Given the description of an element on the screen output the (x, y) to click on. 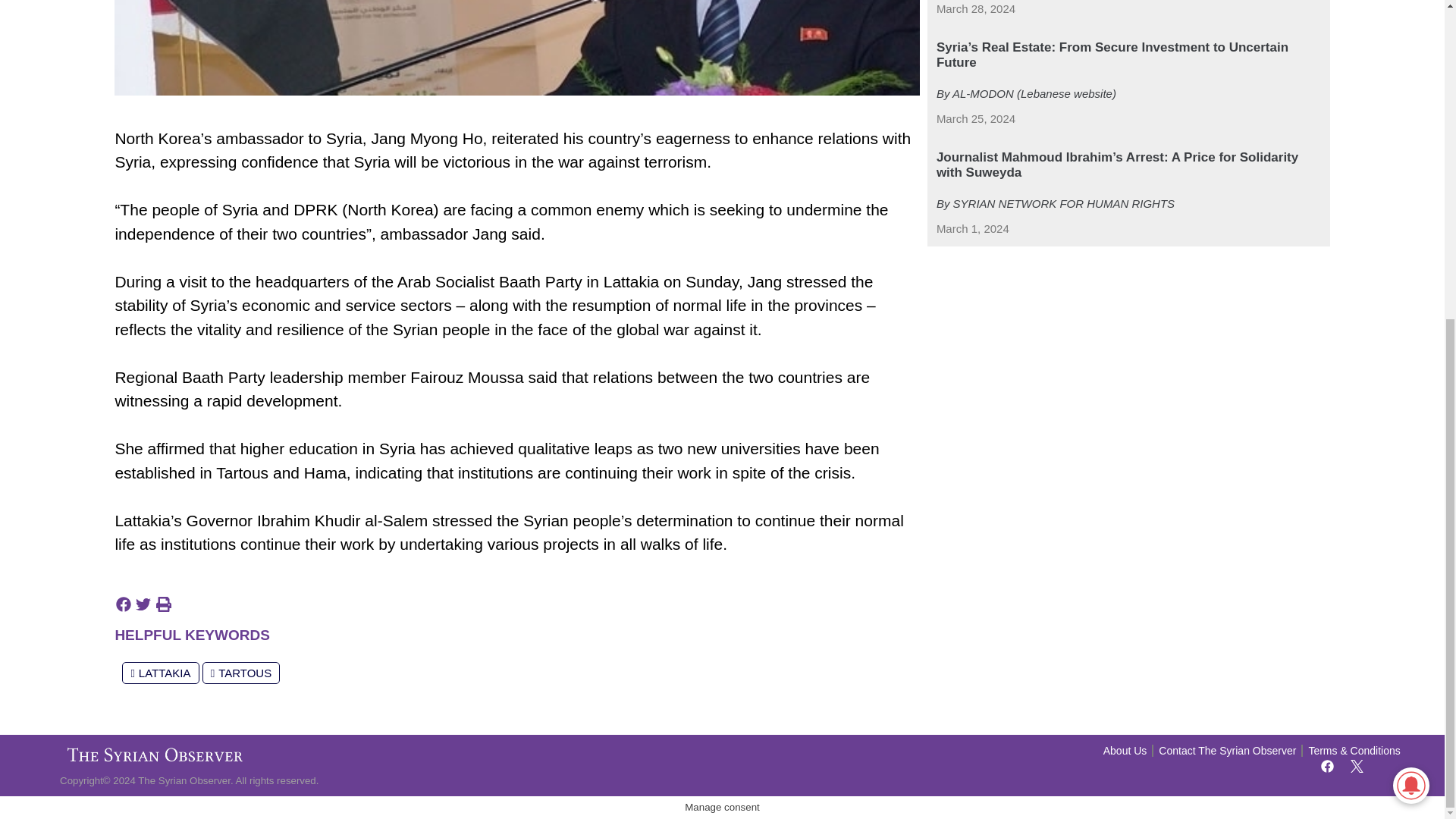
TARTOUS (241, 672)
March 1, 2024 (972, 229)
LATTAKIA (160, 672)
March 28, 2024 (975, 9)
Contact The Syrian Observer (1227, 750)
March 25, 2024 (975, 118)
About Us (1125, 750)
